Given the description of an element on the screen output the (x, y) to click on. 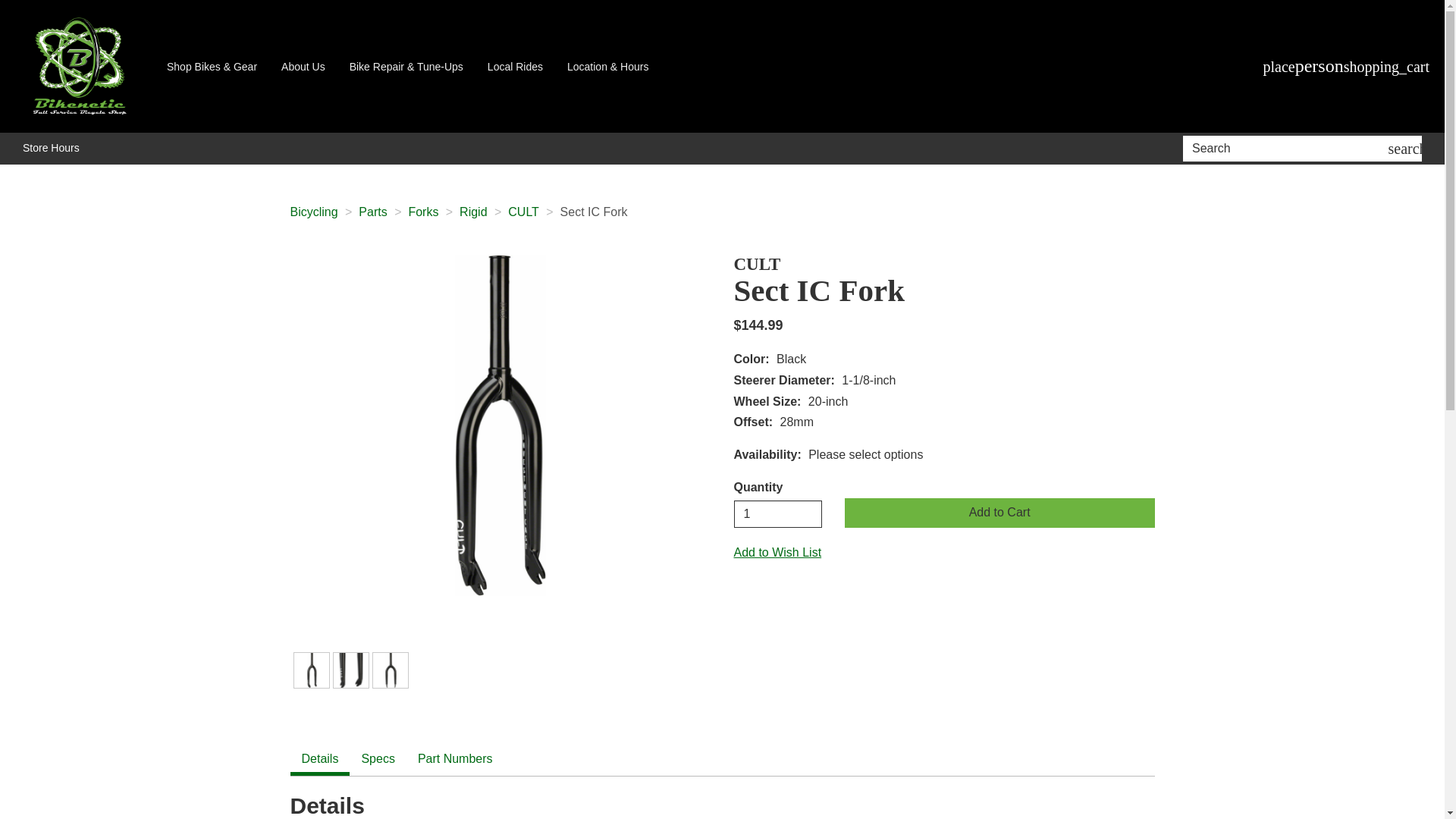
Color: Black (311, 669)
1 (777, 513)
Bikenetic Home Page (77, 66)
Store Hours (51, 148)
Search (1287, 148)
Account (1319, 66)
Stores (1279, 66)
